Given the description of an element on the screen output the (x, y) to click on. 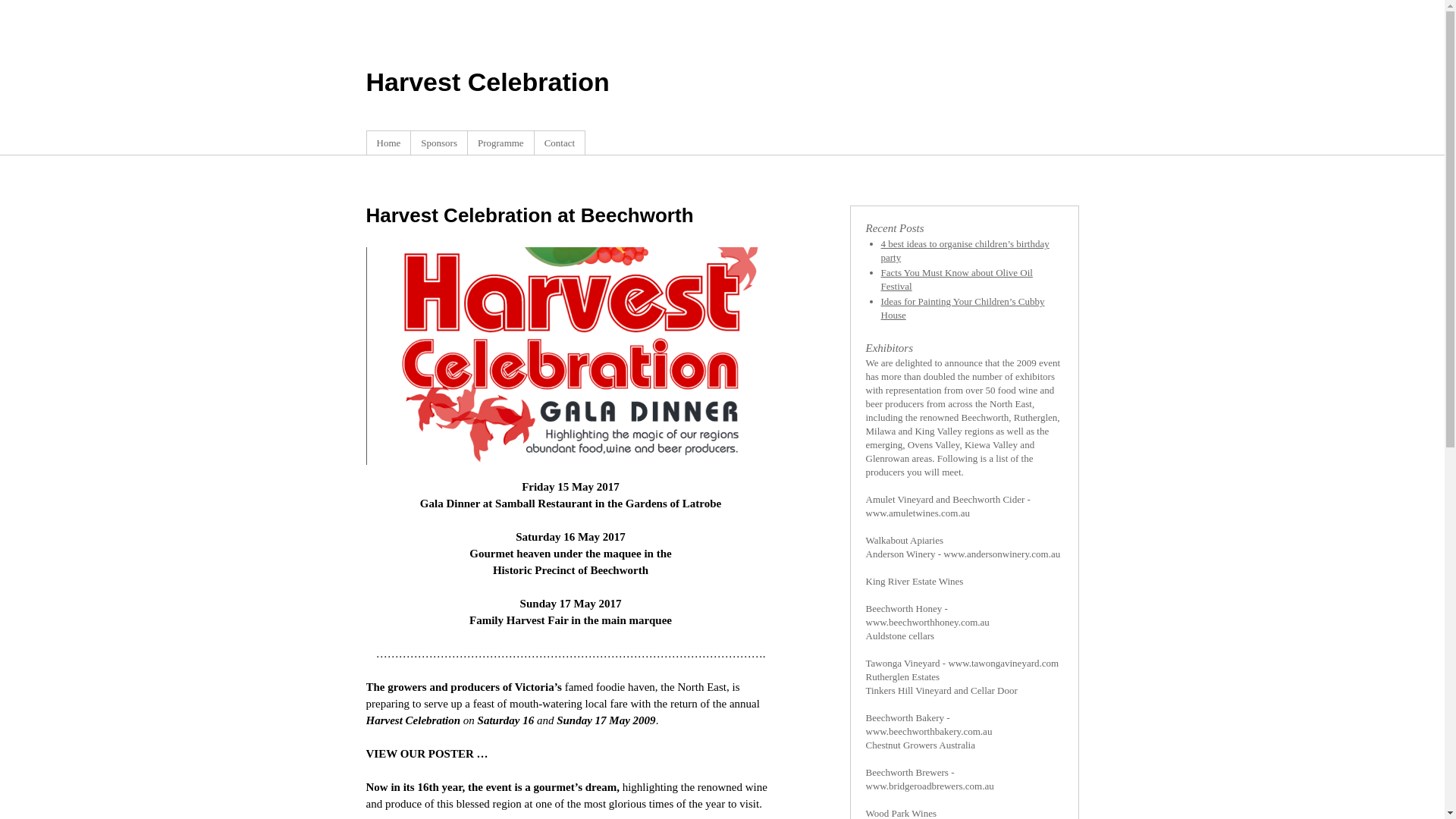
Programme Element type: text (500, 142)
Contact Element type: text (559, 142)
Facts You Must Know about Olive Oil Festival Element type: text (956, 278)
Harvest Celebration Element type: text (486, 81)
Sponsors Element type: text (438, 142)
Home Element type: text (388, 142)
